Given the description of an element on the screen output the (x, y) to click on. 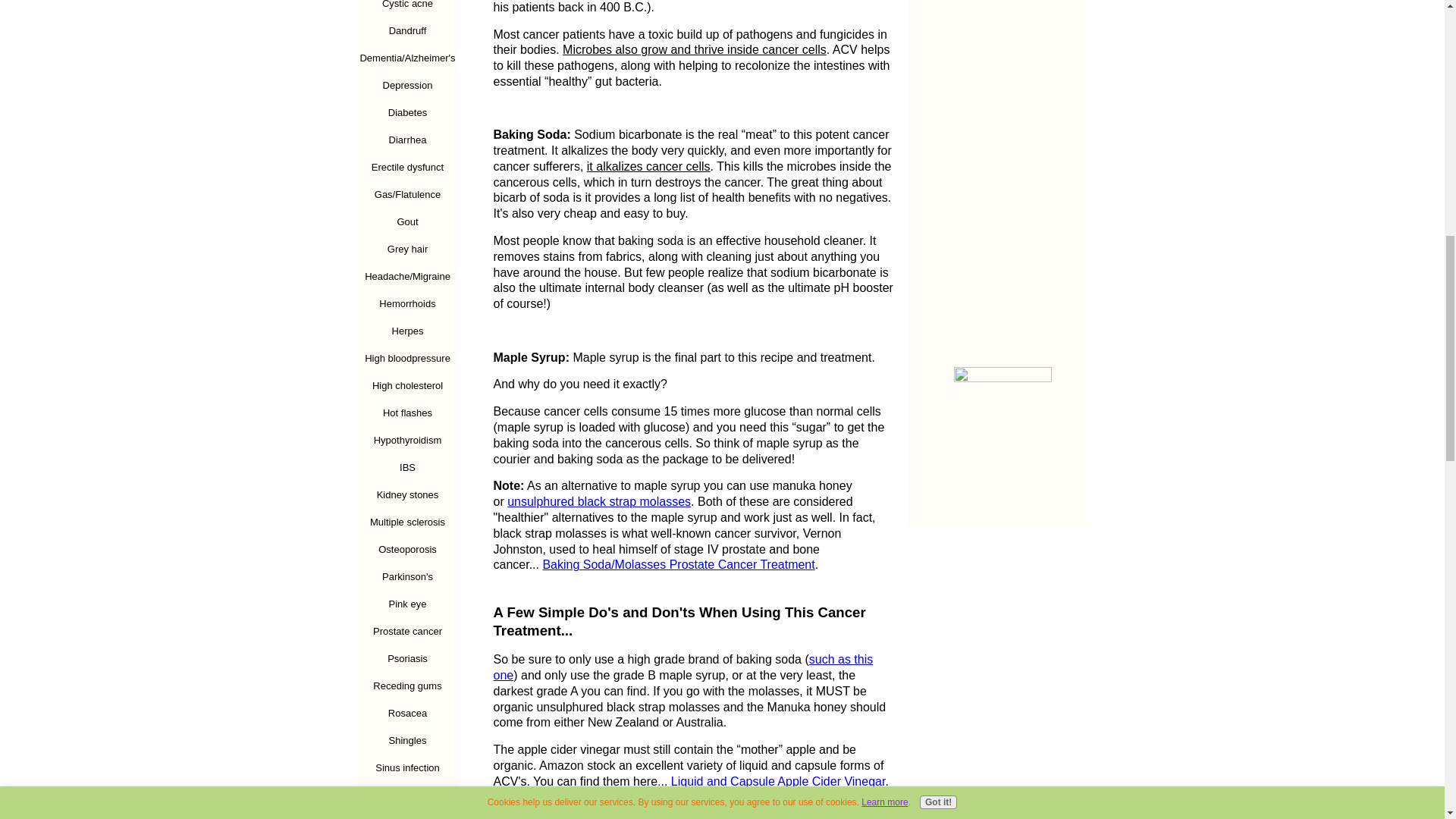
unsulphured black strap molasses (598, 501)
Cystic acne (407, 8)
such as this one (682, 666)
Dandruff (407, 30)
Liquid and Capsule Apple Cider Vinegar (778, 780)
